Given the description of an element on the screen output the (x, y) to click on. 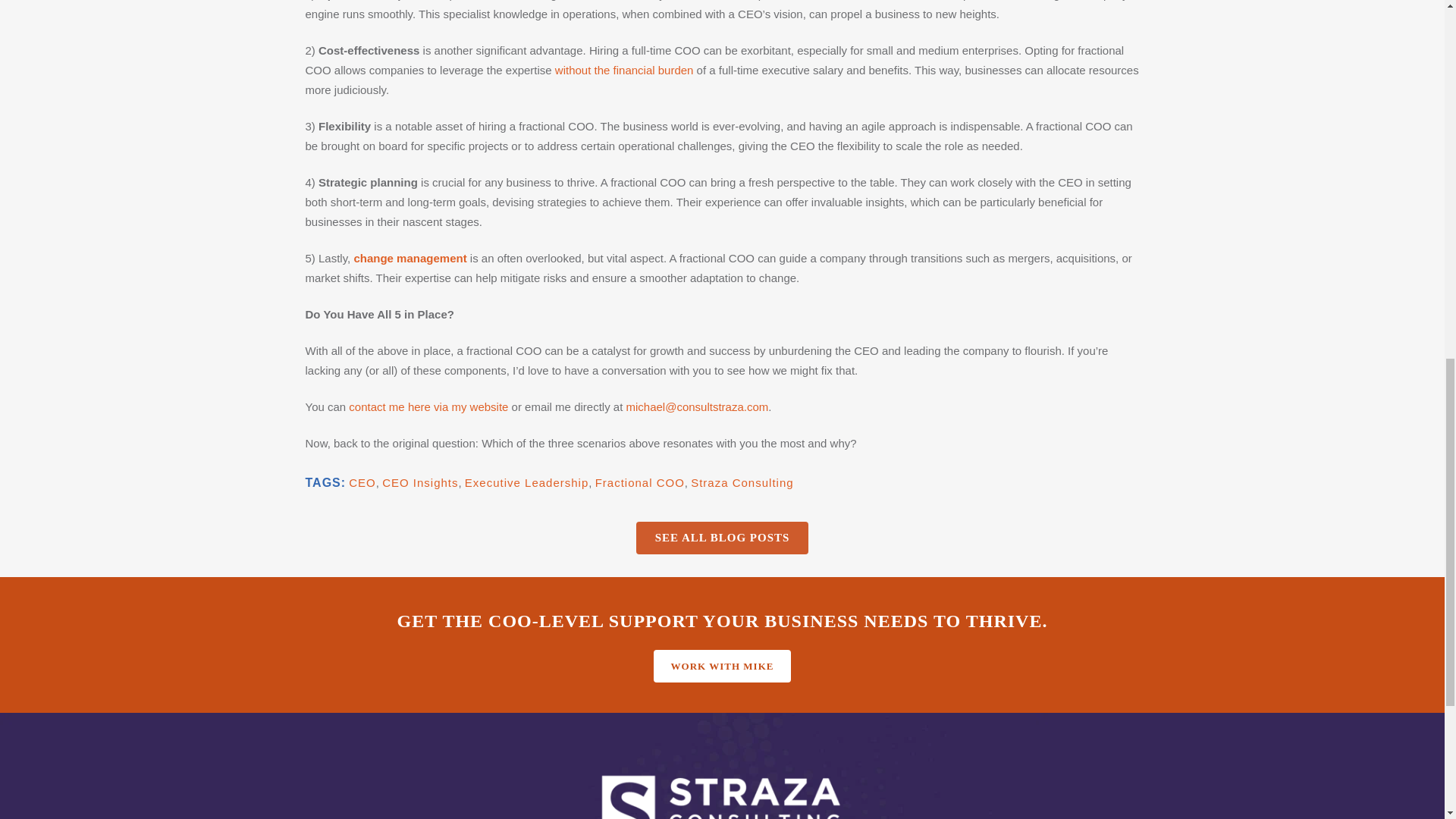
CEO (362, 481)
change management (409, 257)
WORK WITH MIKE (722, 666)
CEO Insights (419, 481)
without the financial burden (624, 69)
SEE ALL BLOG POSTS (722, 537)
Executive Leadership (526, 481)
Straza Consulting (741, 481)
contact me here via my website (428, 406)
Fractional COO (639, 481)
